Given the description of an element on the screen output the (x, y) to click on. 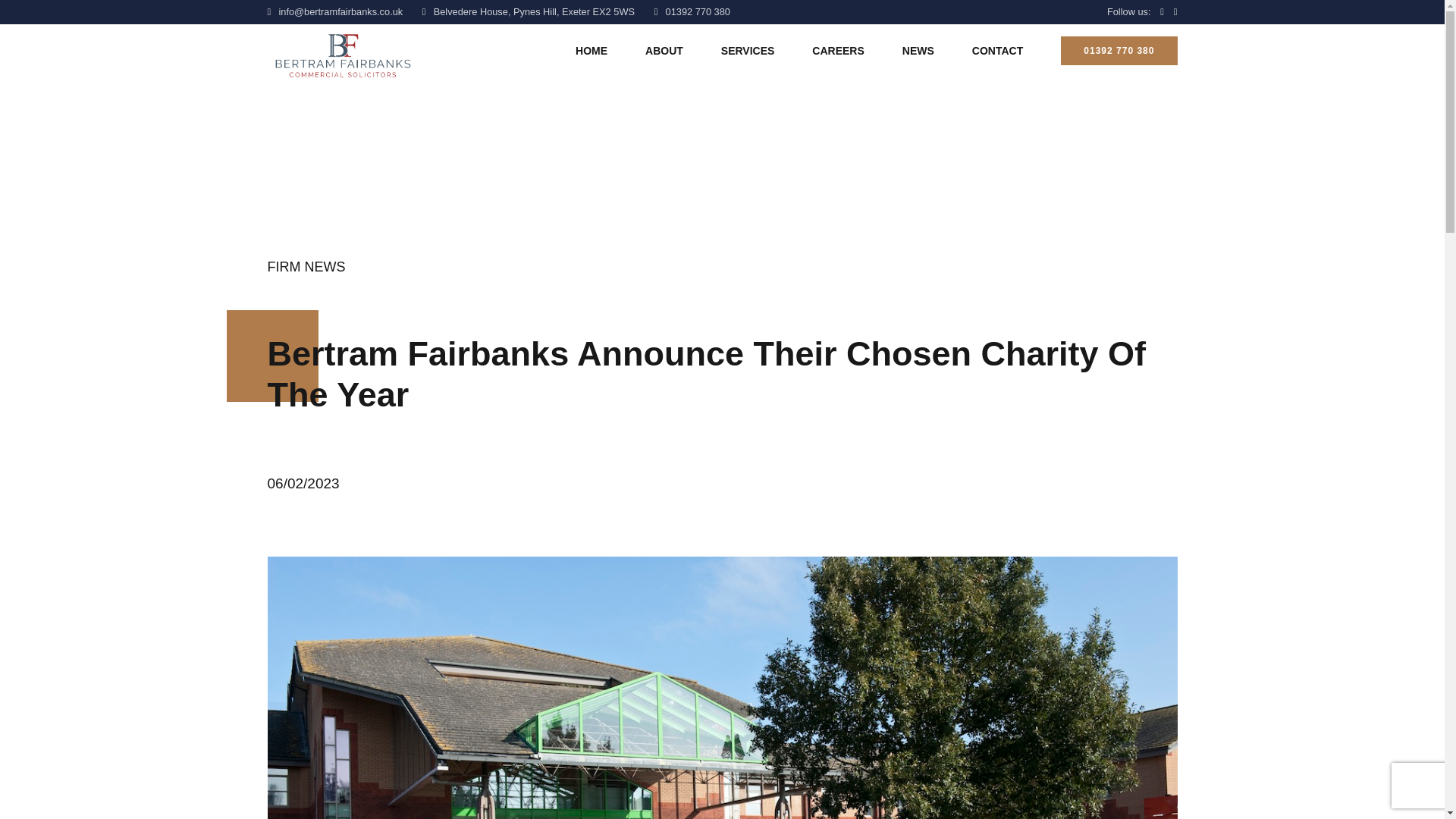
FIRM NEWS (305, 266)
CONTACT (997, 50)
01392 770 380 (1118, 51)
SERVICES (747, 50)
Belvedere House, Pynes Hill, Exeter EX2 5WS (528, 12)
CAREERS (837, 50)
